Given the description of an element on the screen output the (x, y) to click on. 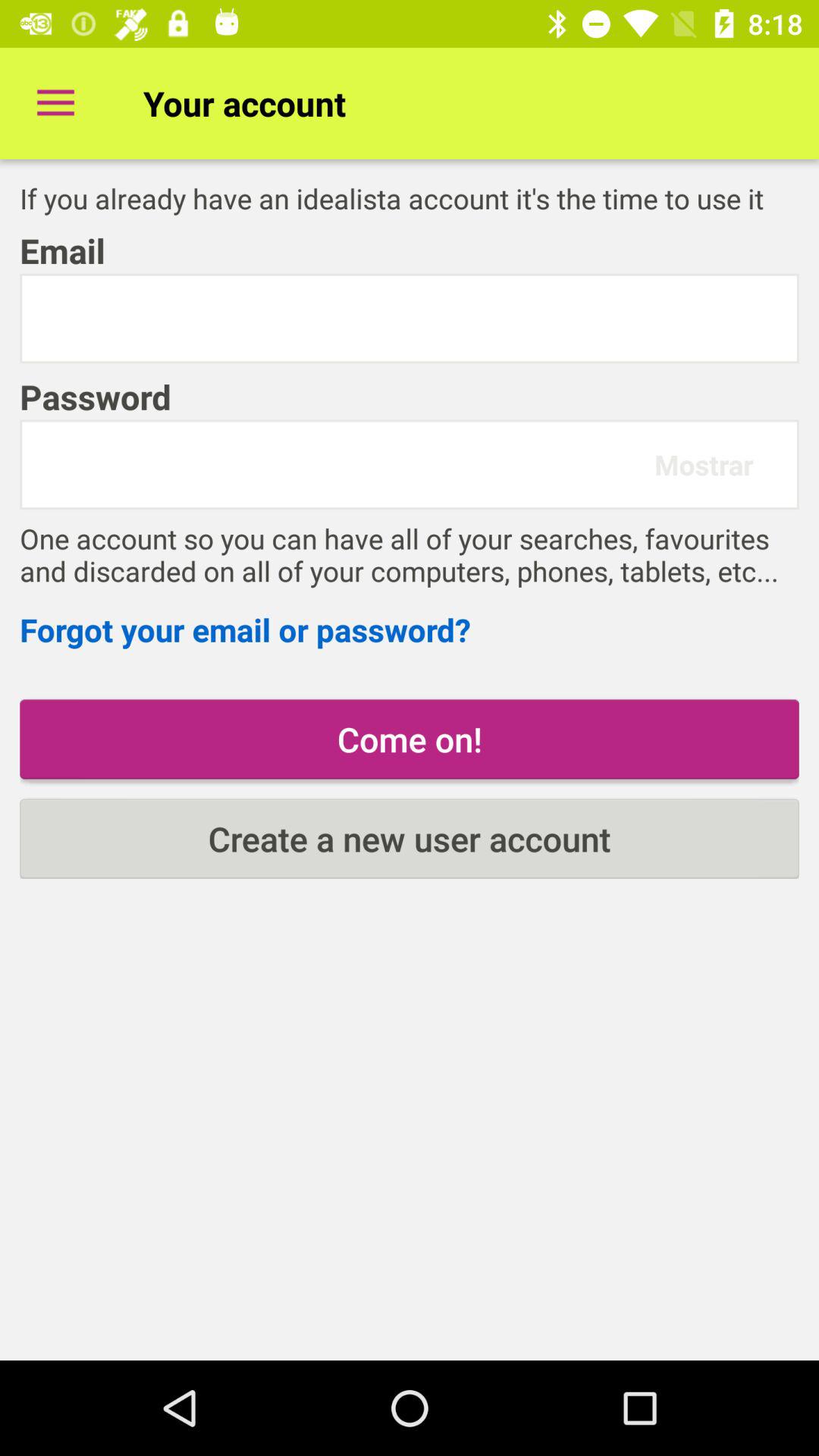
password field (343, 464)
